Given the description of an element on the screen output the (x, y) to click on. 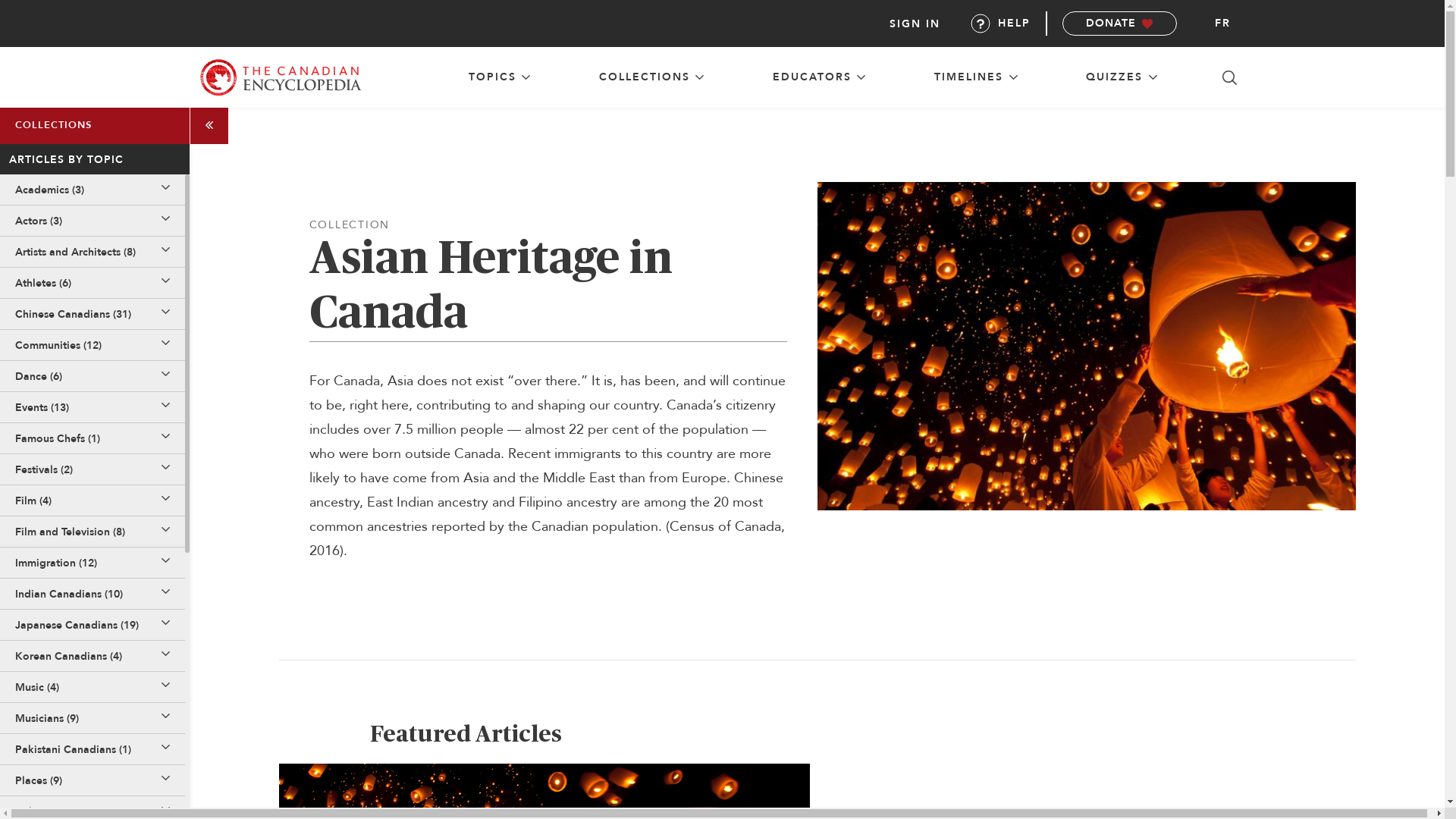
TOGGLER Element type: text (165, 717)
TOGGLER Element type: text (165, 686)
TOGGLER Element type: text (165, 344)
SIGN IN Element type: text (913, 22)
TOPICS Element type: text (499, 76)
Asian Heritage in Canada Element type: hover (1086, 346)
TOGGLER Element type: text (165, 500)
TOGGLER Element type: text (165, 438)
TOGGLER Element type: text (165, 780)
TOGGLER Element type: text (165, 655)
TOGGLER Element type: text (165, 375)
TOGGLER Element type: text (165, 407)
TOGGLER Element type: text (165, 749)
TOGGLER Element type: text (165, 313)
TOGGLER Element type: text (165, 562)
DONATE Element type: text (1118, 23)
FR Element type: text (1222, 23)
TOGGLER Element type: text (165, 189)
TOGGLER Element type: text (165, 220)
TOGGLER Element type: text (165, 624)
EDUCATORS Element type: text (819, 76)
SIDEBAR TOGGLER Element type: text (209, 125)
HELP Element type: text (1000, 23)
TOGGLER Element type: text (165, 811)
TOGGLER Element type: text (165, 282)
TIMELINES Element type: text (975, 76)
QUIZZES Element type: text (1121, 76)
Submit Element type: text (544, 473)
COLLECTIONS Element type: text (651, 76)
TOGGLER Element type: text (165, 469)
TOGGLER Element type: text (165, 593)
TOGGLER Element type: text (165, 251)
TOGGLER Element type: text (165, 531)
